Given the description of an element on the screen output the (x, y) to click on. 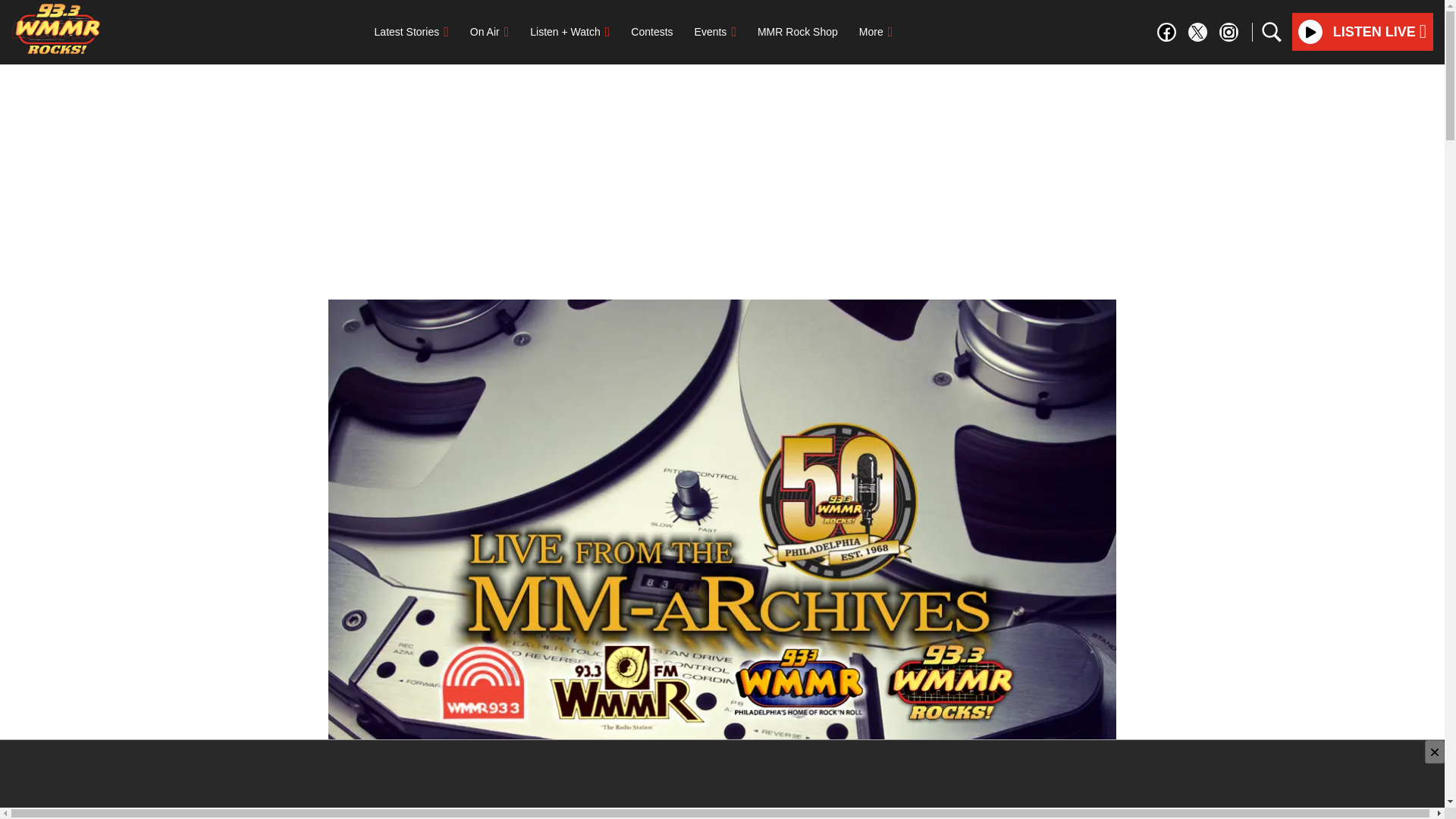
Latest Stories (412, 31)
On Air (489, 31)
Close AdCheckmark indicating ad close (1434, 751)
